Given the description of an element on the screen output the (x, y) to click on. 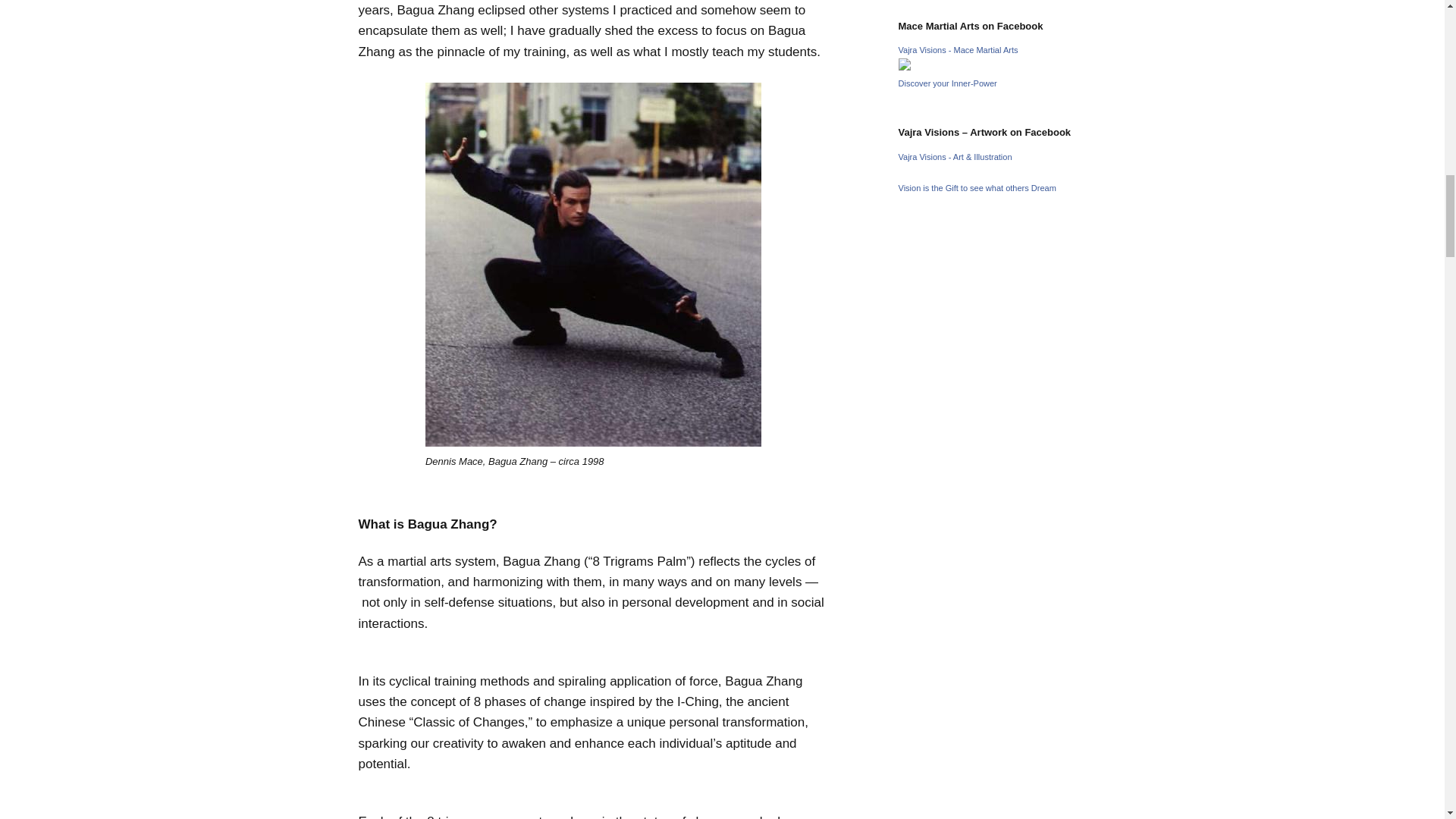
Vajra Visions - Mace Martial Arts (957, 49)
Vajra Visions - Mace Martial Arts (904, 66)
Make your own badge! (947, 82)
Make your own badge! (977, 187)
